Given the description of an element on the screen output the (x, y) to click on. 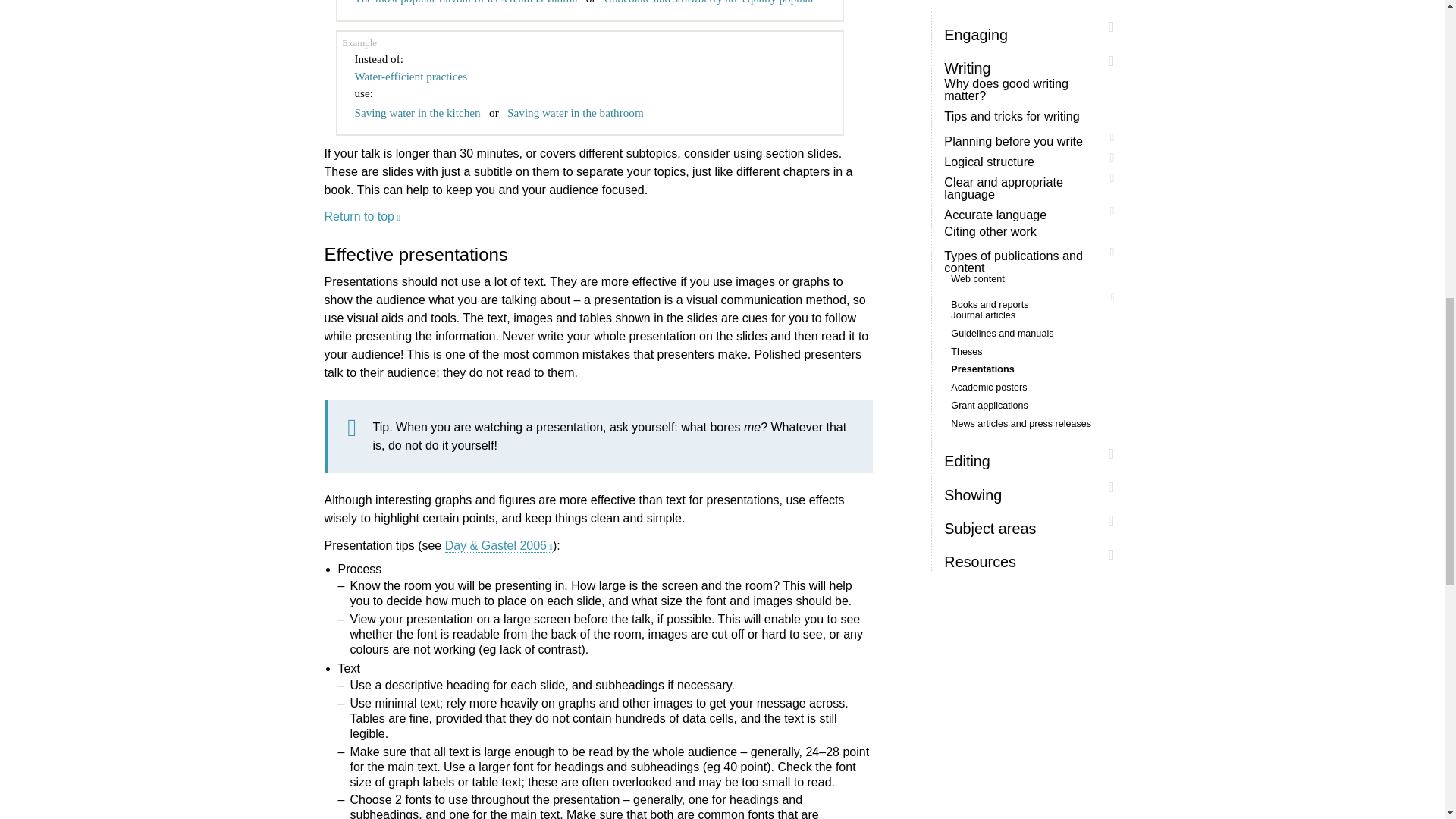
Return to top (362, 217)
